Given the description of an element on the screen output the (x, y) to click on. 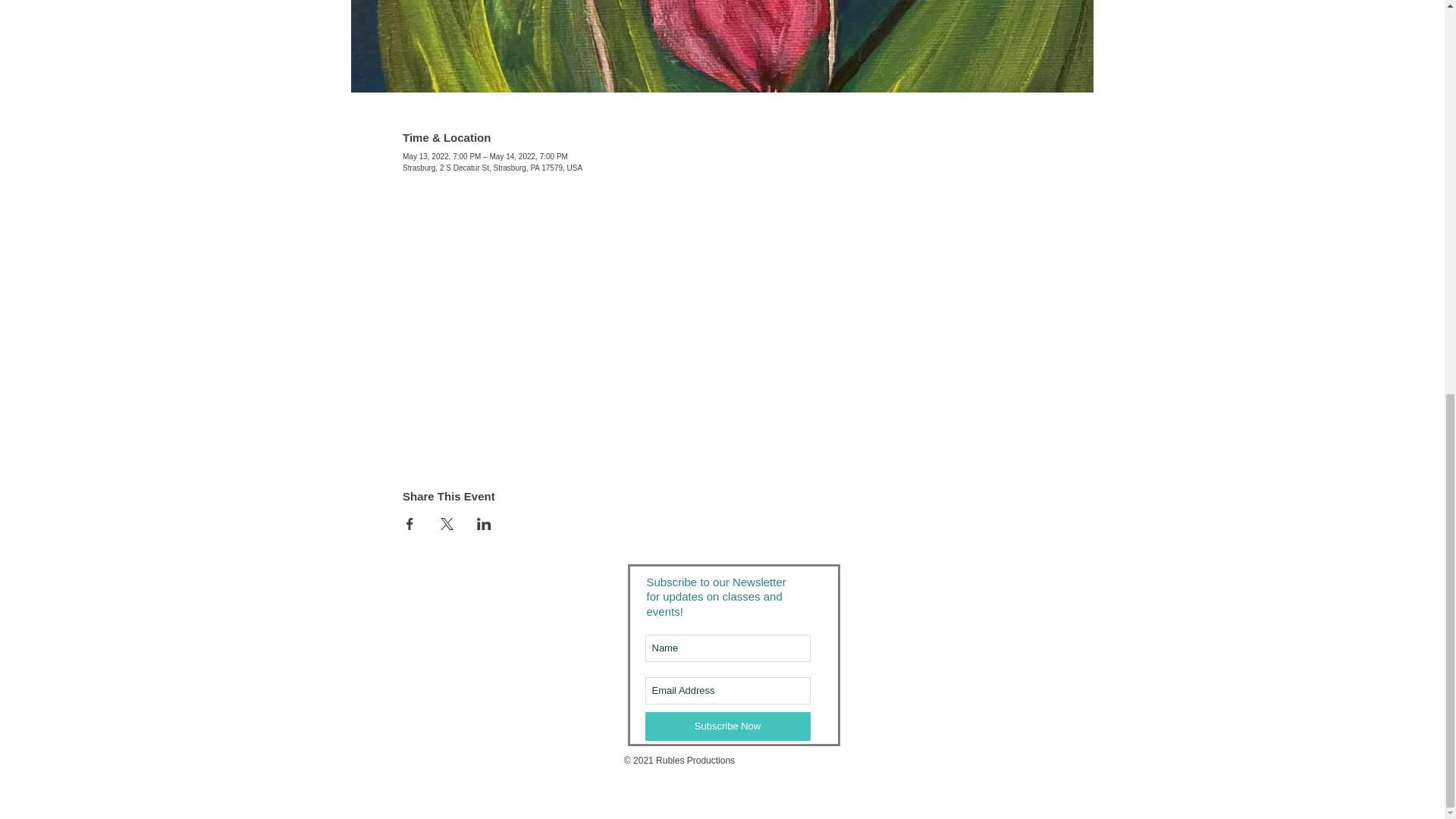
Subscribe Now (727, 726)
